Given the description of an element on the screen output the (x, y) to click on. 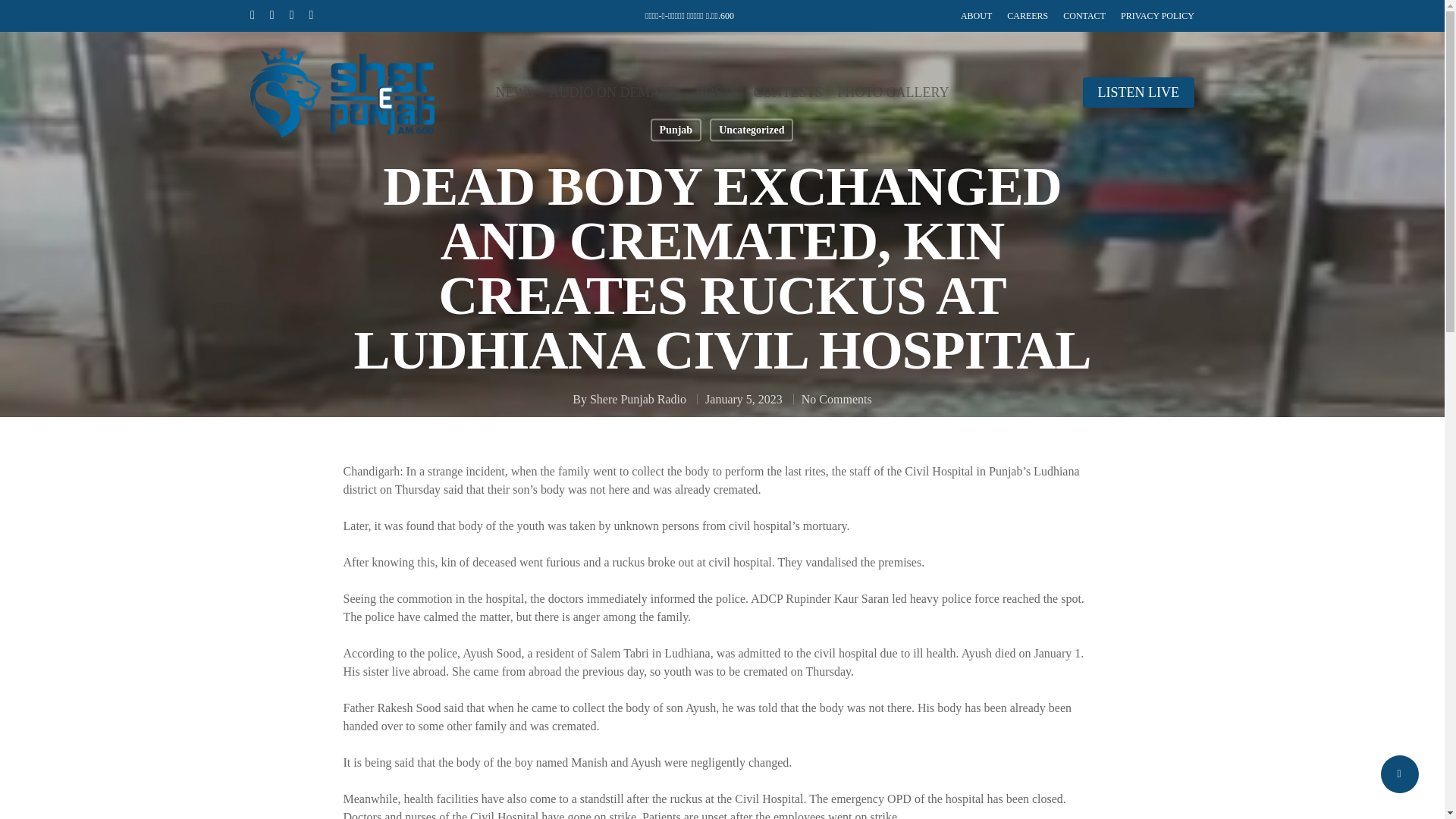
CONTACT (1083, 15)
ABOUT (975, 15)
Posts by Shere Punjab Radio (637, 399)
No Comments (837, 399)
NEWS (514, 92)
CAREERS (1027, 15)
Uncategorized (751, 128)
PRIVACY POLICY (1157, 15)
AUDIO ON DEMAND (613, 92)
Punjab (675, 128)
